Given the description of an element on the screen output the (x, y) to click on. 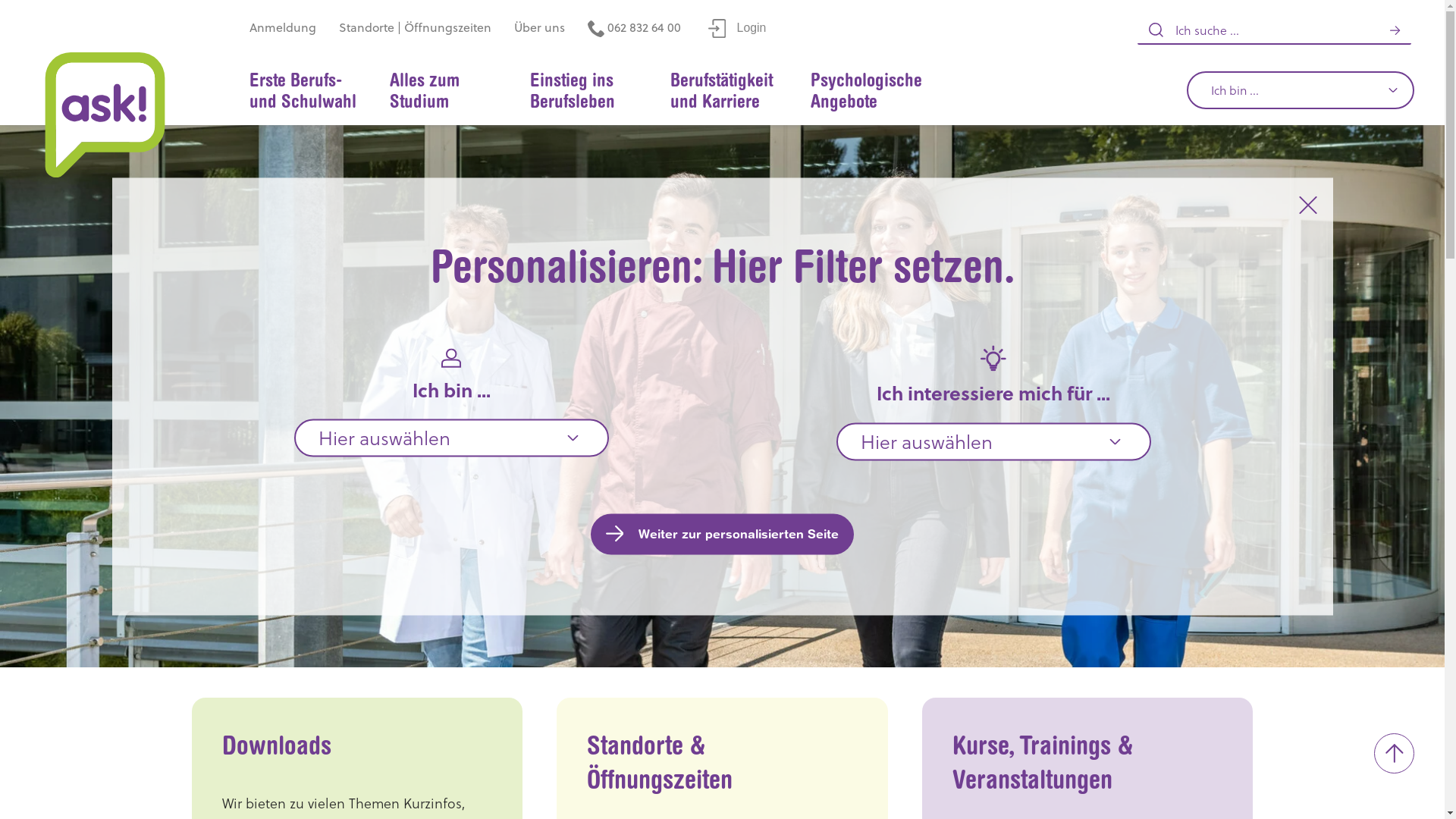
Login Element type: text (737, 28)
062 832 64 00 Element type: text (633, 28)
Weiter zur personalisierten Seite Element type: text (722, 533)
Login Element type: text (737, 27)
Ich bin ... Element type: text (1300, 90)
Alles zum Studium Element type: text (444, 91)
Erste Berufs- und Schulwahl Element type: text (304, 91)
Anmeldung Element type: text (282, 28)
Psychologische Angebote Element type: text (866, 91)
Einstieg ins Berufsleben Element type: text (584, 91)
